Given the description of an element on the screen output the (x, y) to click on. 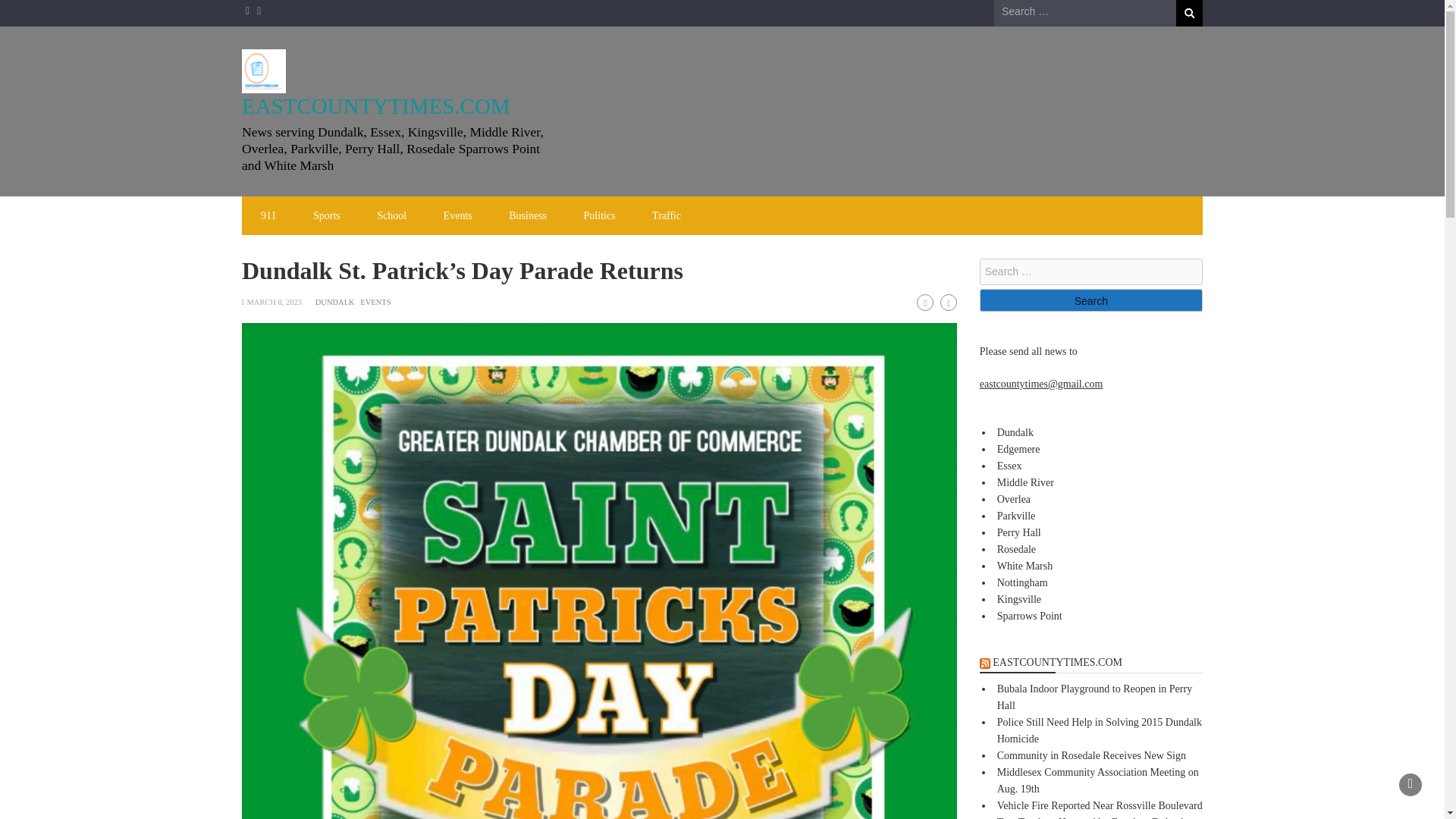
EVENTS (374, 302)
Search (1090, 300)
Sports (326, 215)
Politics (599, 215)
Search (1090, 300)
EASTCOUNTYTIMES.COM (376, 105)
Search (1189, 13)
Search for: (1090, 271)
Essex (1009, 465)
Parkville (1016, 515)
